Given the description of an element on the screen output the (x, y) to click on. 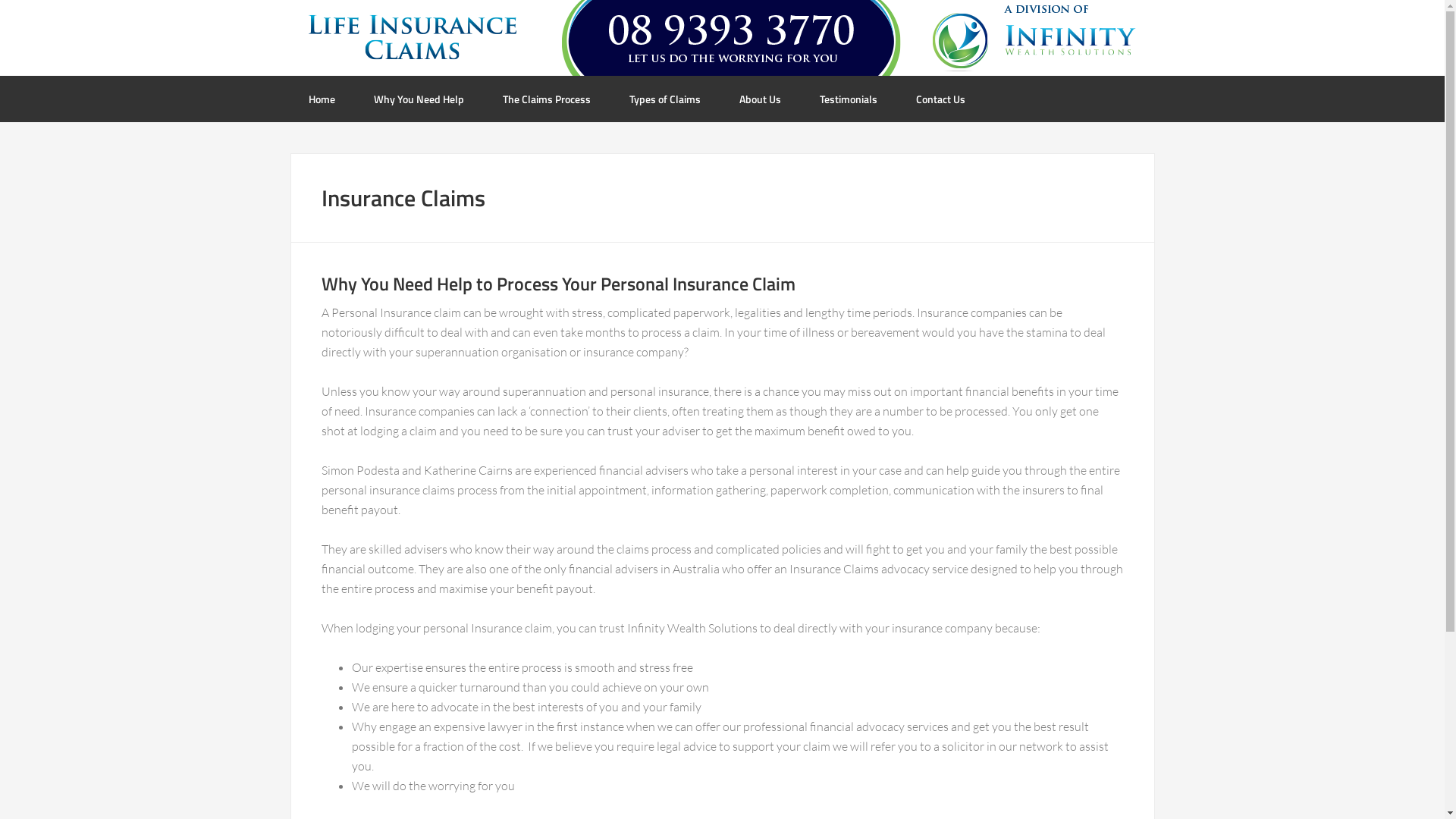
The Claims Process Element type: text (545, 98)
Testimonials Element type: text (847, 98)
Contact Us Element type: text (940, 98)
About Us Element type: text (759, 98)
Why You Need Help Element type: text (417, 98)
Types of Claims Element type: text (664, 98)
Home Element type: text (320, 98)
Life Insurance Claims Element type: text (721, 37)
